Given the description of an element on the screen output the (x, y) to click on. 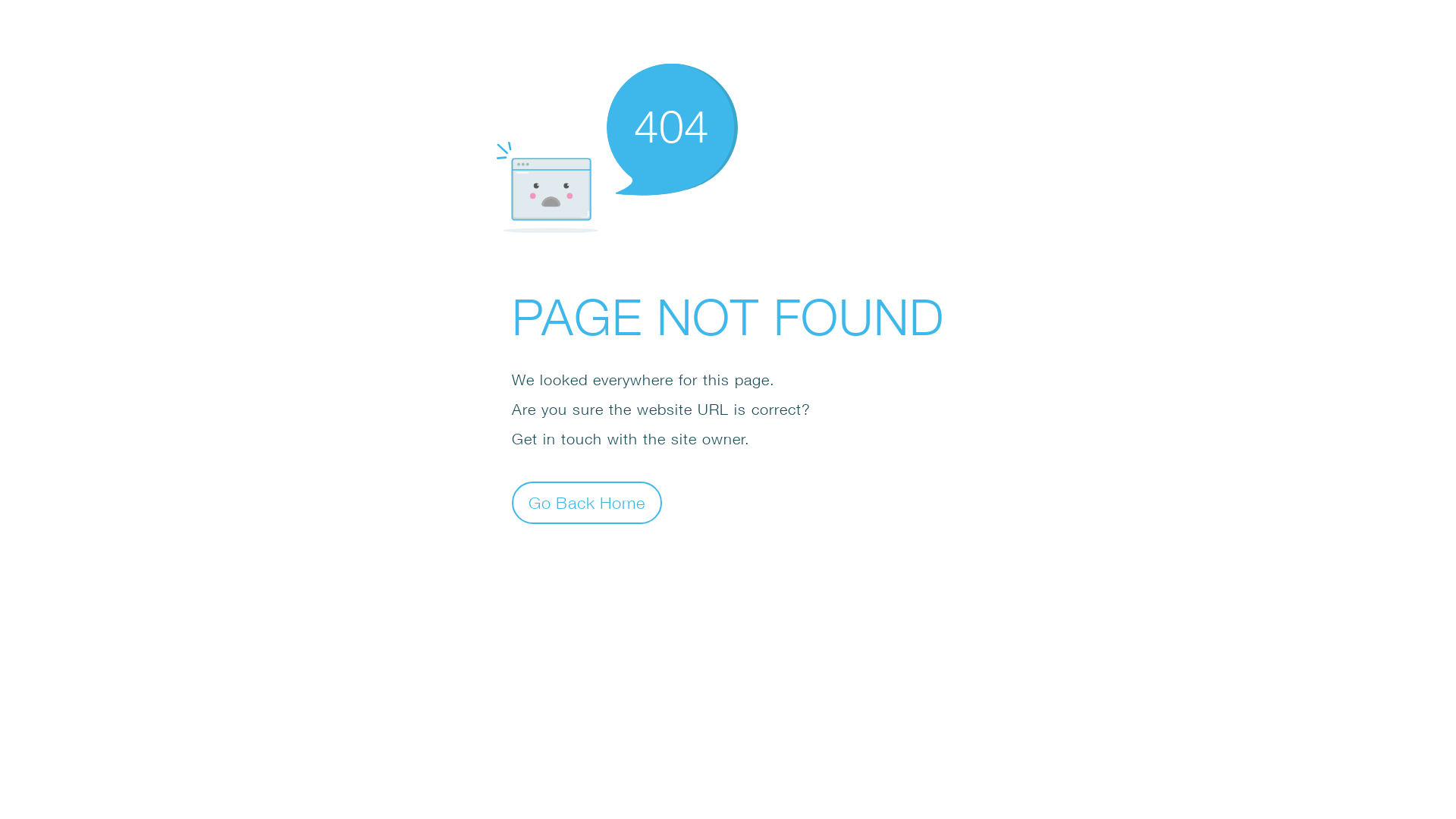
Go Back Home Element type: text (586, 502)
